Given the description of an element on the screen output the (x, y) to click on. 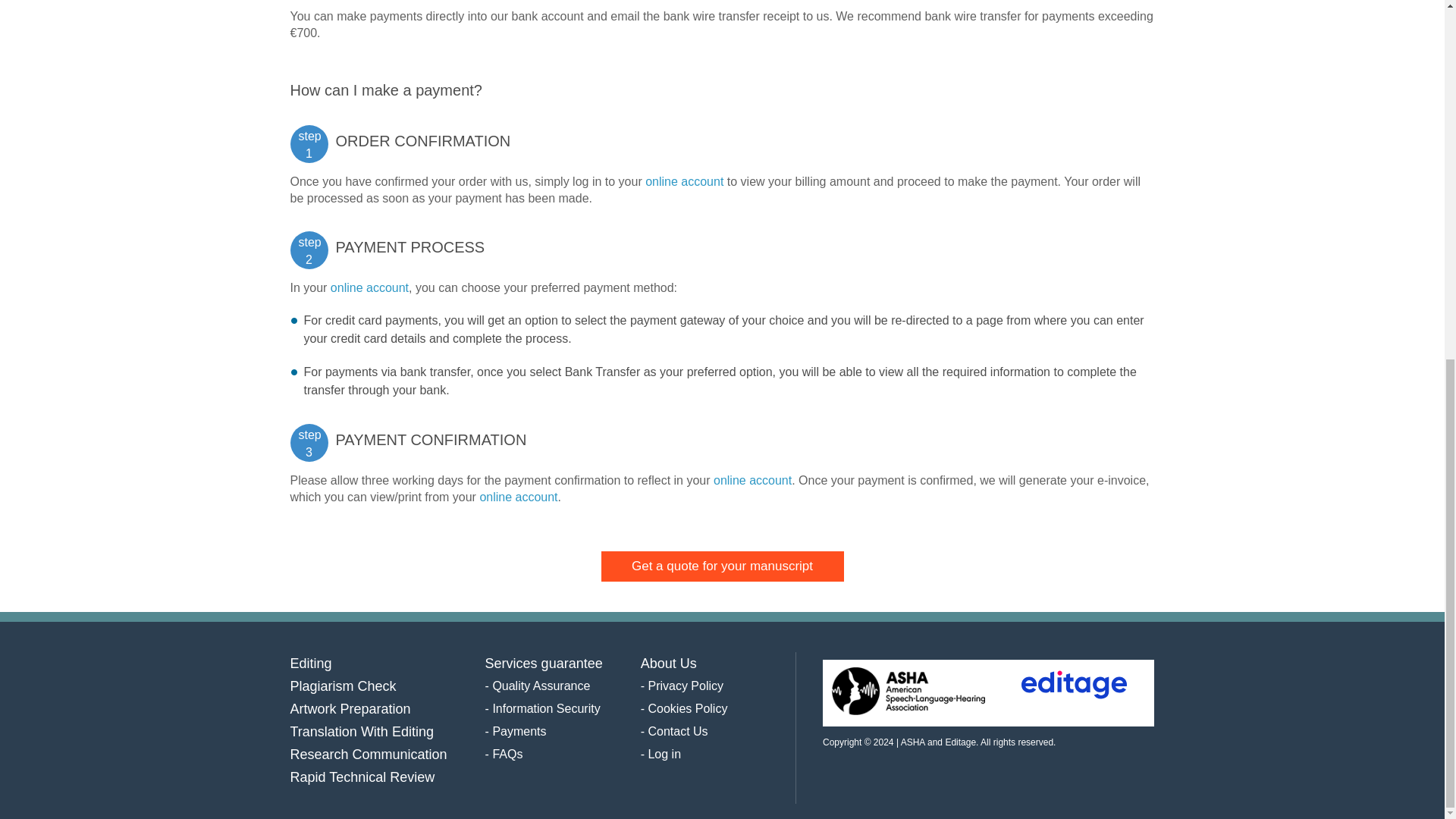
Research Communication (367, 754)
online account (752, 480)
online account (684, 181)
Rapid Technical Review (361, 776)
online account (369, 287)
Editing (310, 663)
Artwork Preparation (349, 708)
Plagiarism Check (342, 685)
Translation With Editing (360, 731)
Get a quote for your manuscript (721, 566)
online account (518, 496)
